Given the description of an element on the screen output the (x, y) to click on. 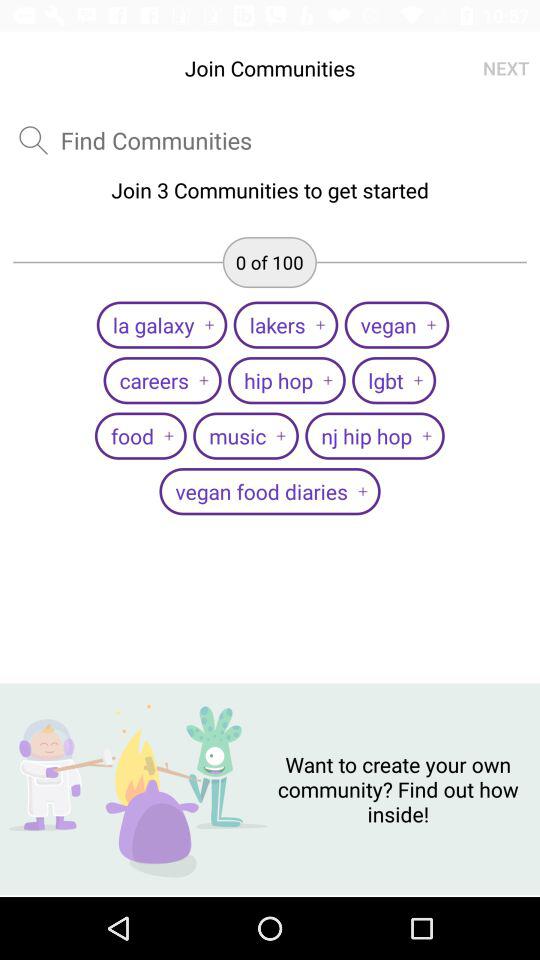
select item above the join 3 communities (33, 140)
